Given the description of an element on the screen output the (x, y) to click on. 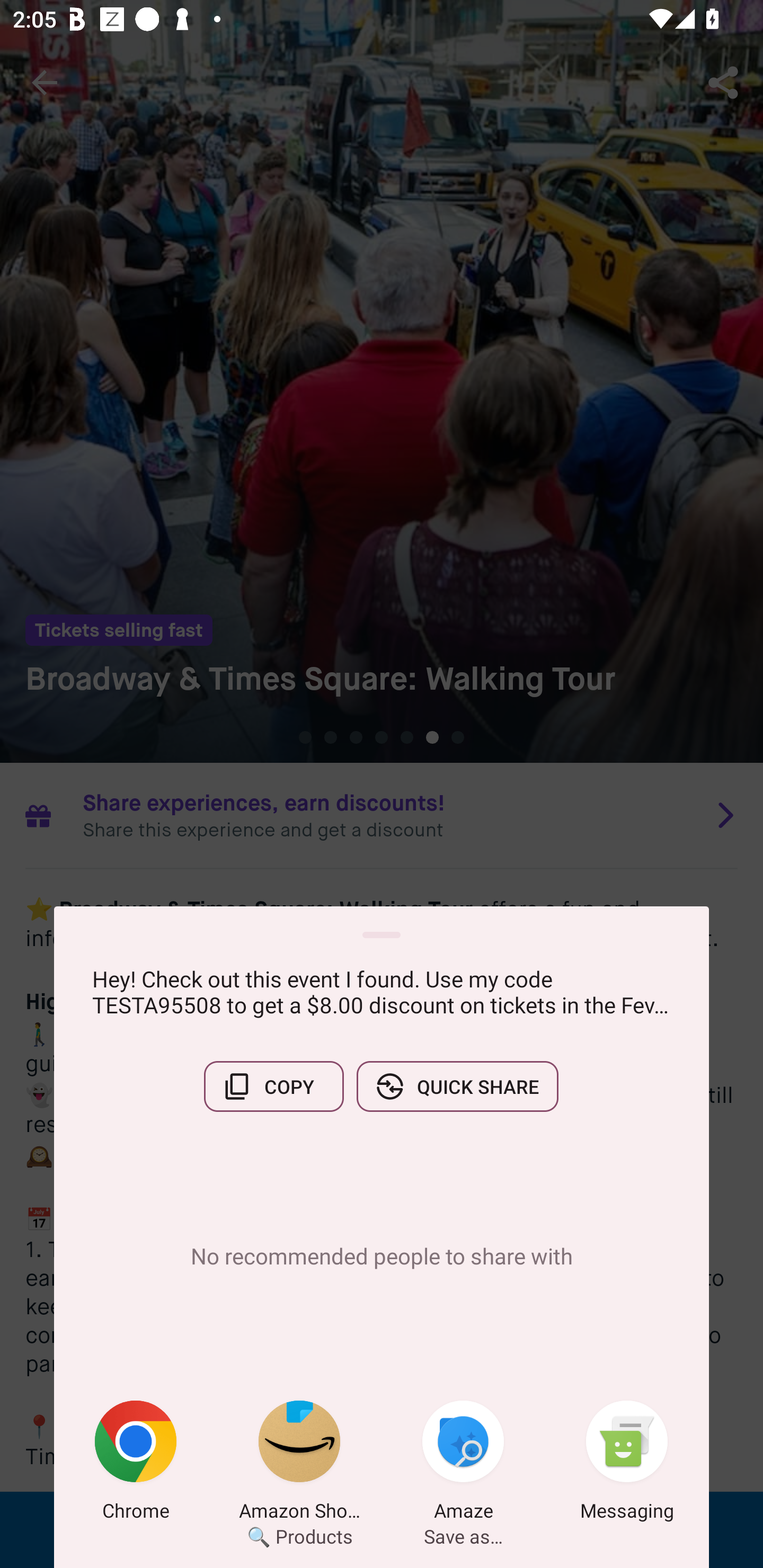
COPY (273, 1086)
QUICK SHARE (457, 1086)
Chrome (135, 1463)
Amazon Shopping 🔍 Products (299, 1463)
Amaze Save as… (463, 1463)
Messaging (626, 1463)
